Given the description of an element on the screen output the (x, y) to click on. 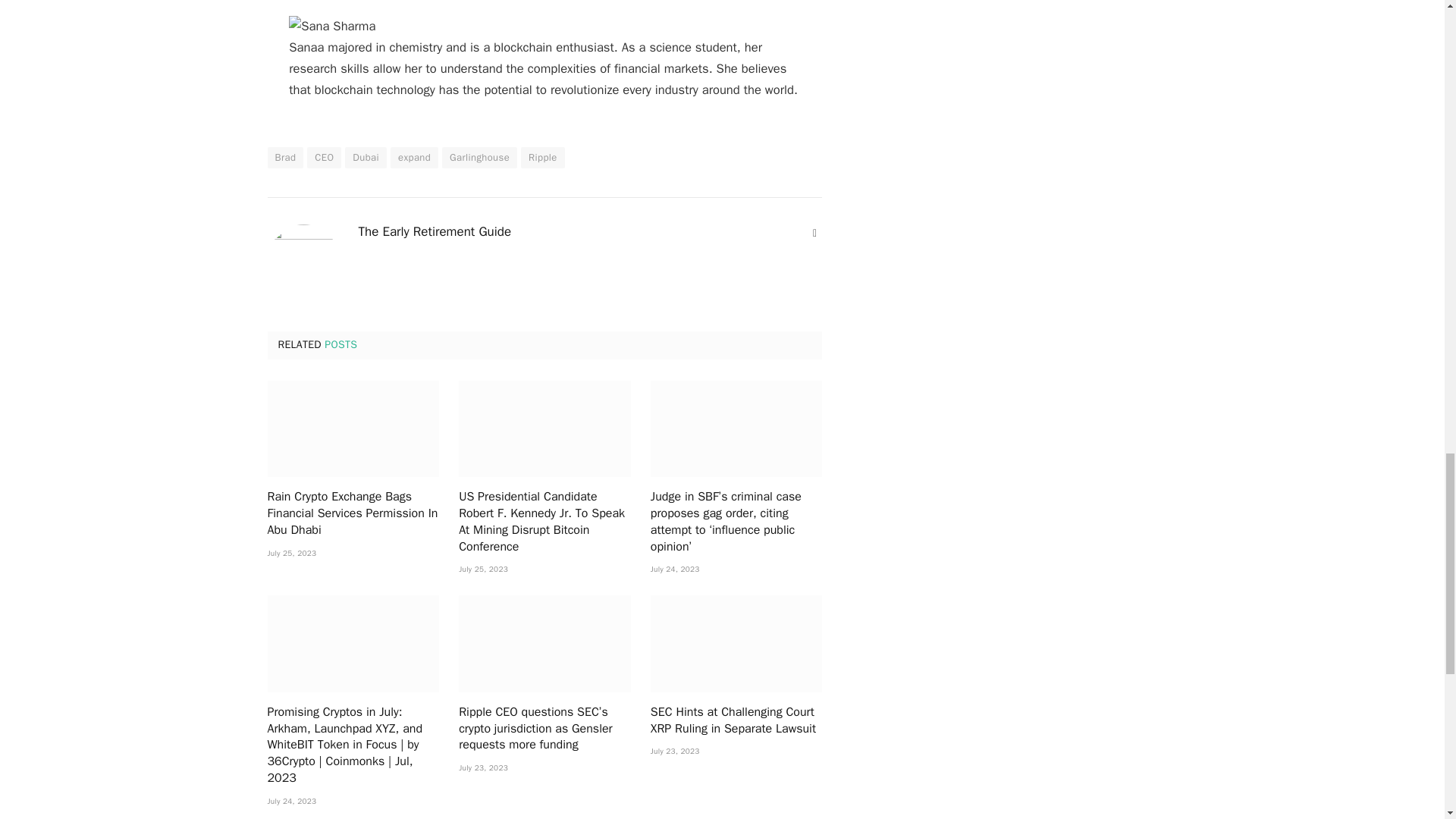
Dubai (366, 157)
Posts by The Early Retirement Guide (434, 231)
CEO (323, 157)
Brad (284, 157)
Website (814, 233)
